Given the description of an element on the screen output the (x, y) to click on. 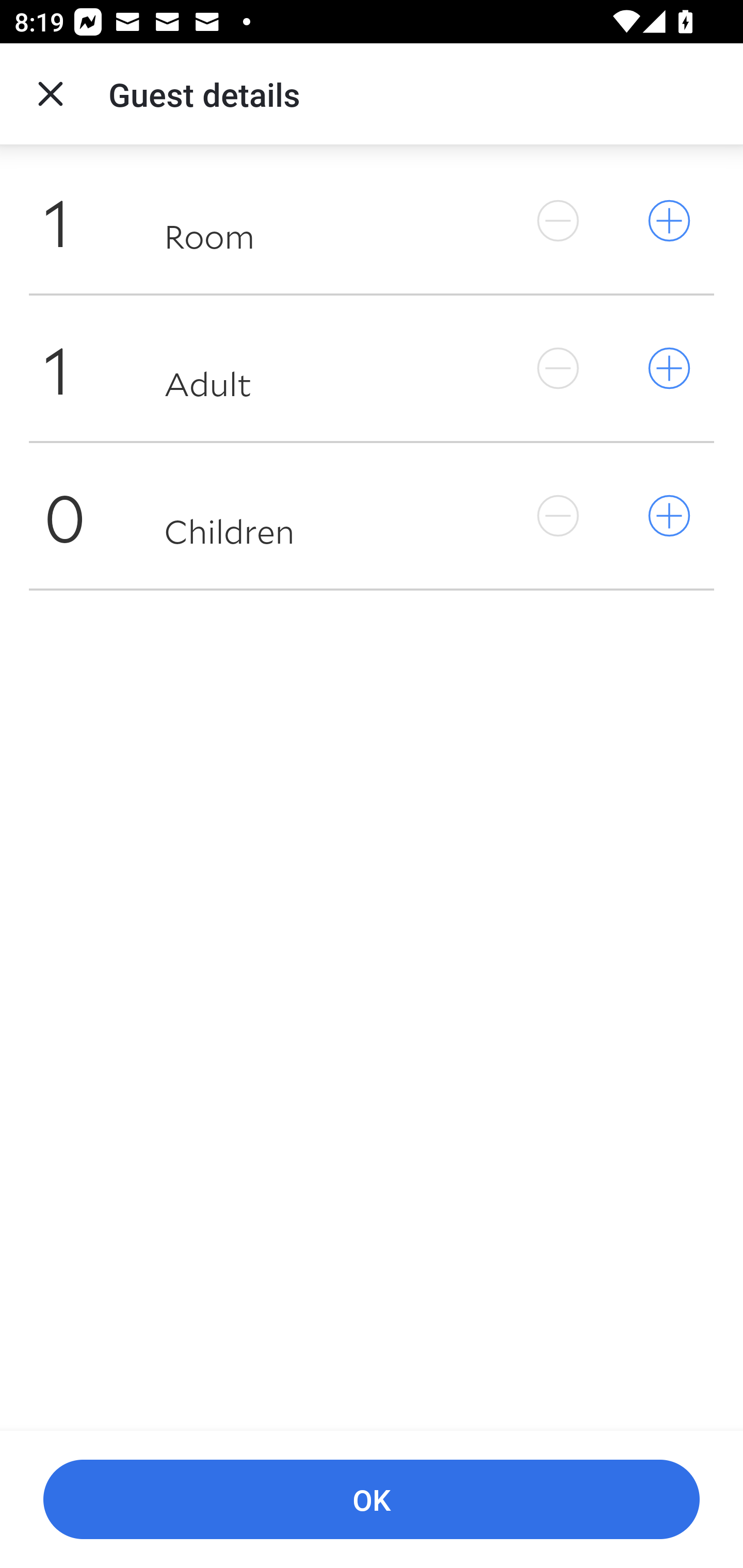
OK (371, 1499)
